Given the description of an element on the screen output the (x, y) to click on. 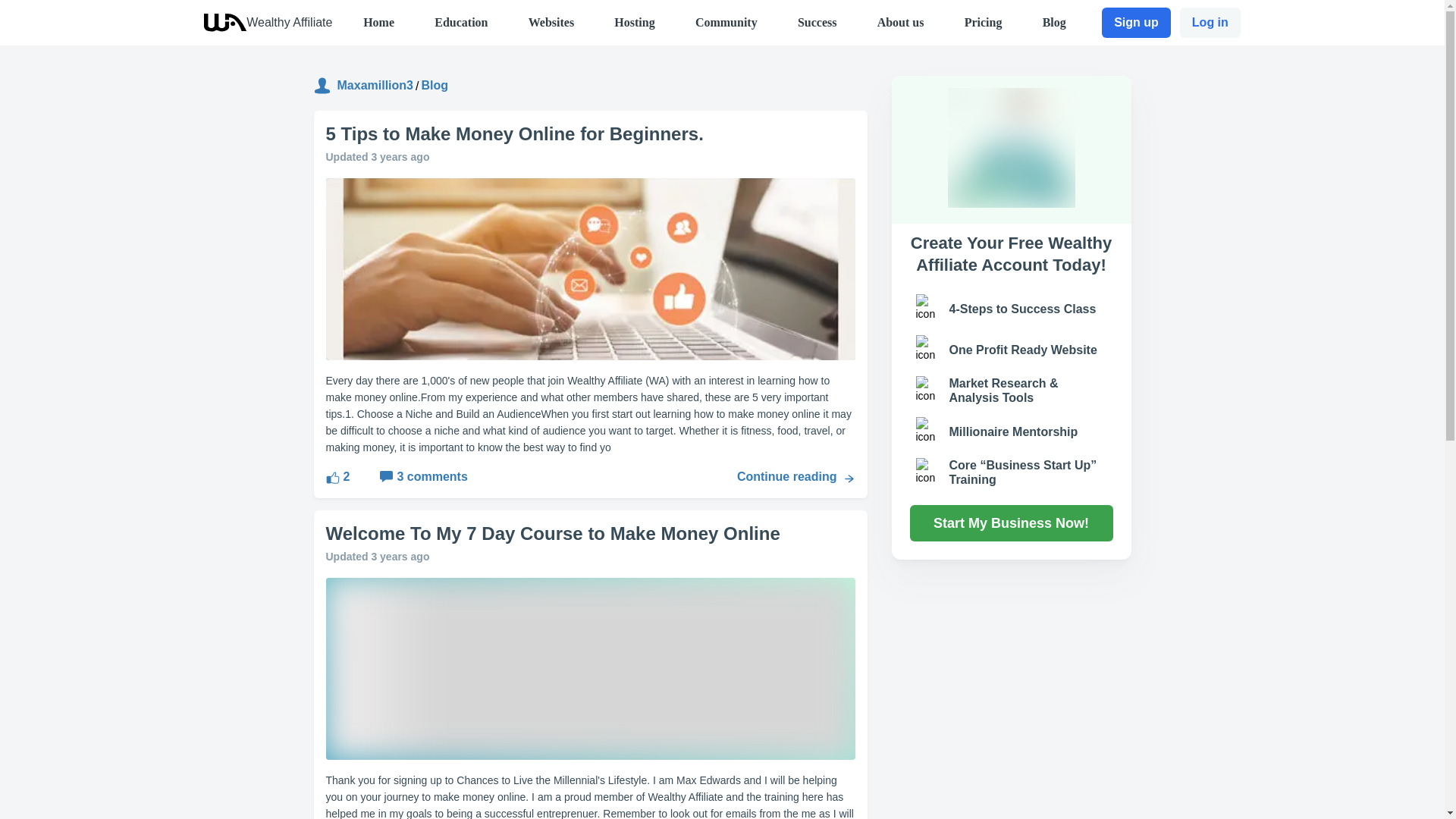
Success (817, 21)
About us (900, 21)
Pricing (983, 21)
Start My Business Now! (1011, 523)
3 comments (408, 476)
5 Tips to Make Money Online for Beginners. (591, 133)
Mon, 14 Jun 2021 03:49:44 GMT (400, 156)
Welcome To My 7 Day Course to Make Money Online (591, 533)
Continue reading (796, 476)
Home (378, 21)
Wealthy Affiliate (288, 21)
2 (338, 476)
Mon, 21 Jun 2021 02:17:45 GMT (400, 556)
Hosting (633, 21)
Blog (1053, 21)
